Given the description of an element on the screen output the (x, y) to click on. 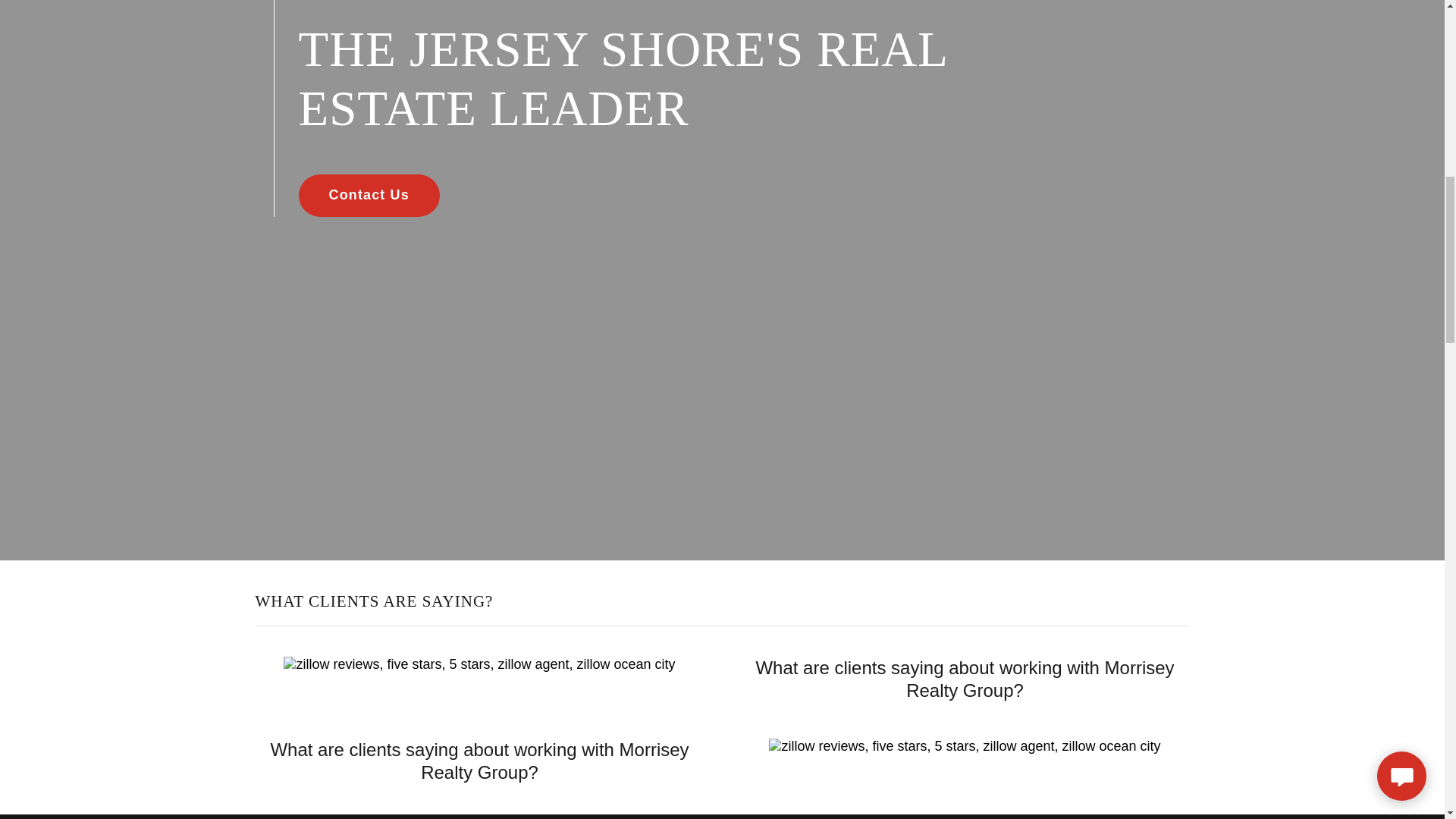
Contact Us (368, 195)
